Given the description of an element on the screen output the (x, y) to click on. 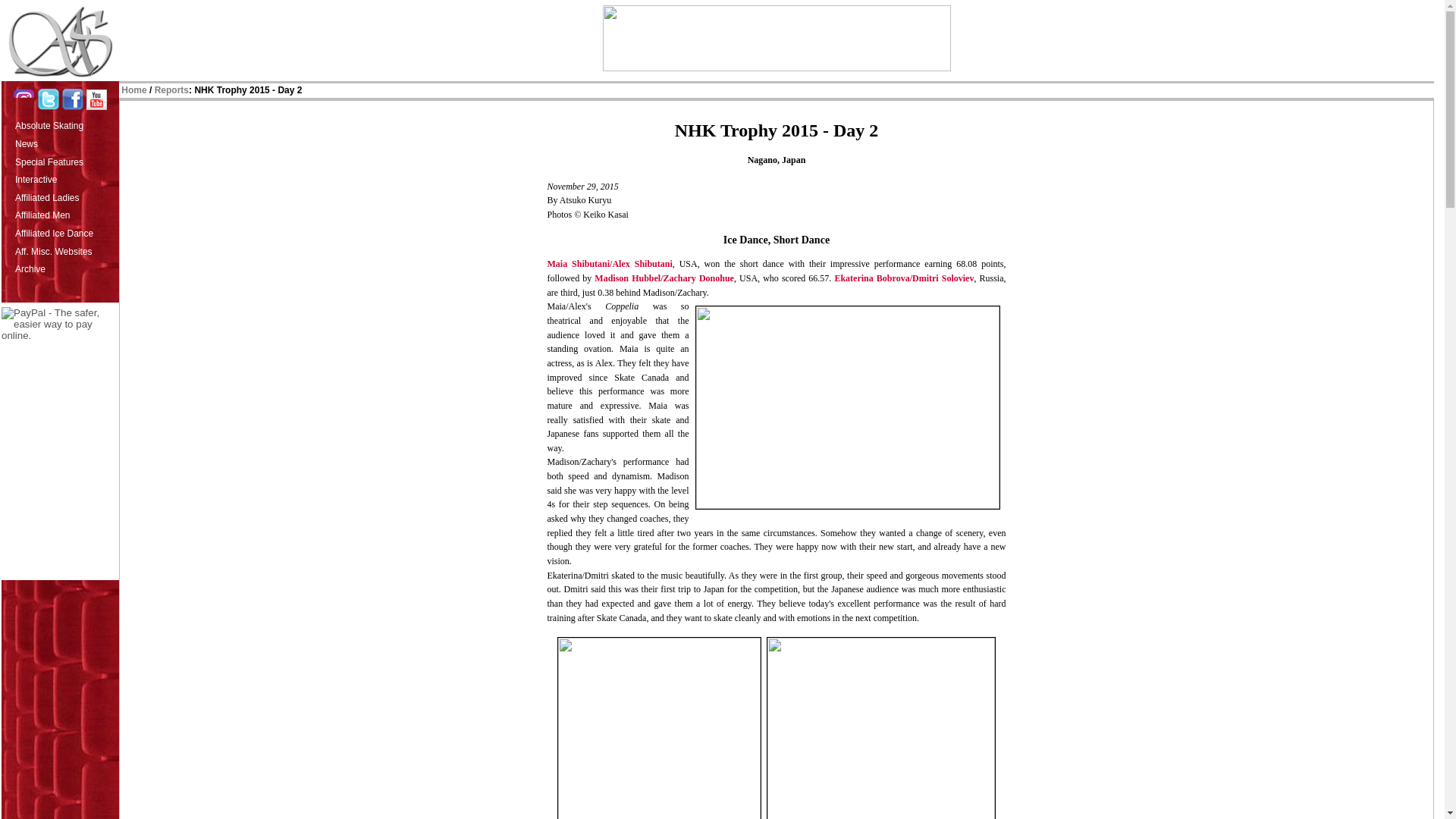
News (65, 142)
Affiliated Men (65, 213)
Absolute Skating (65, 124)
Aff. Misc. Websites (65, 249)
Affiliated Ladies (65, 196)
Interactive (65, 177)
Special Features (65, 160)
Affiliated Ice Dance (65, 231)
Support the site (60, 324)
